Given the description of an element on the screen output the (x, y) to click on. 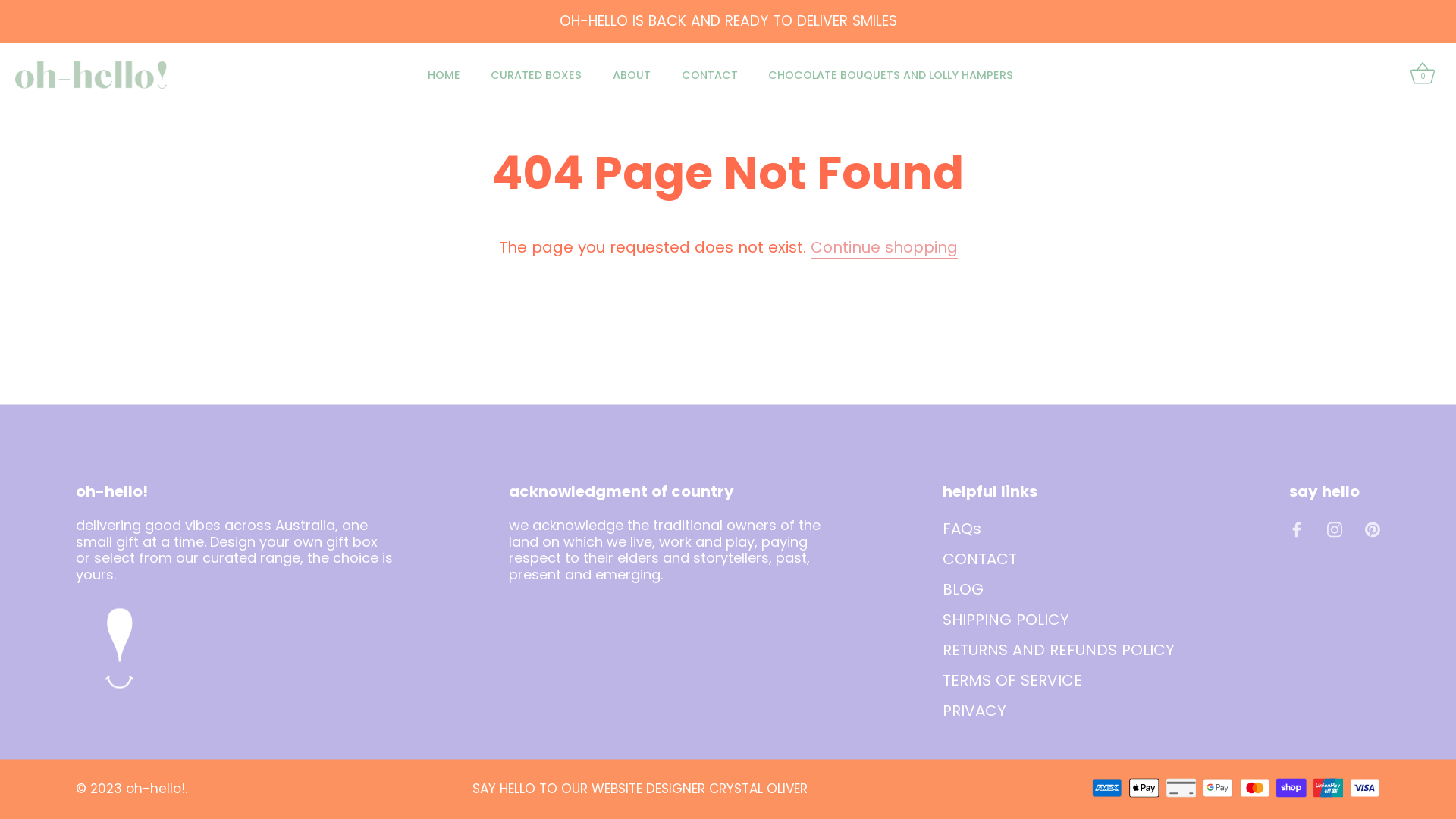
PRIVACY Element type: text (974, 709)
CRYSTAL OLIVER Element type: text (758, 788)
SHIPPING POLICY Element type: text (1005, 618)
Basket
0 Element type: text (1422, 74)
BLOG Element type: text (962, 588)
ABOUT Element type: text (631, 74)
HOME Element type: text (443, 74)
CURATED BOXES Element type: text (536, 74)
TERMS OF SERVICE Element type: text (1012, 679)
Instagram Element type: text (1334, 527)
oh-hello! Element type: text (155, 788)
CHOCOLATE BOUQUETS AND LOLLY HAMPERS Element type: text (890, 74)
Continue shopping Element type: text (883, 247)
CONTACT Element type: text (979, 557)
FAQs Element type: text (961, 527)
CONTACT Element type: text (709, 74)
RETURNS AND REFUNDS POLICY Element type: text (1058, 648)
Pinterest Element type: text (1372, 527)
